Given the description of an element on the screen output the (x, y) to click on. 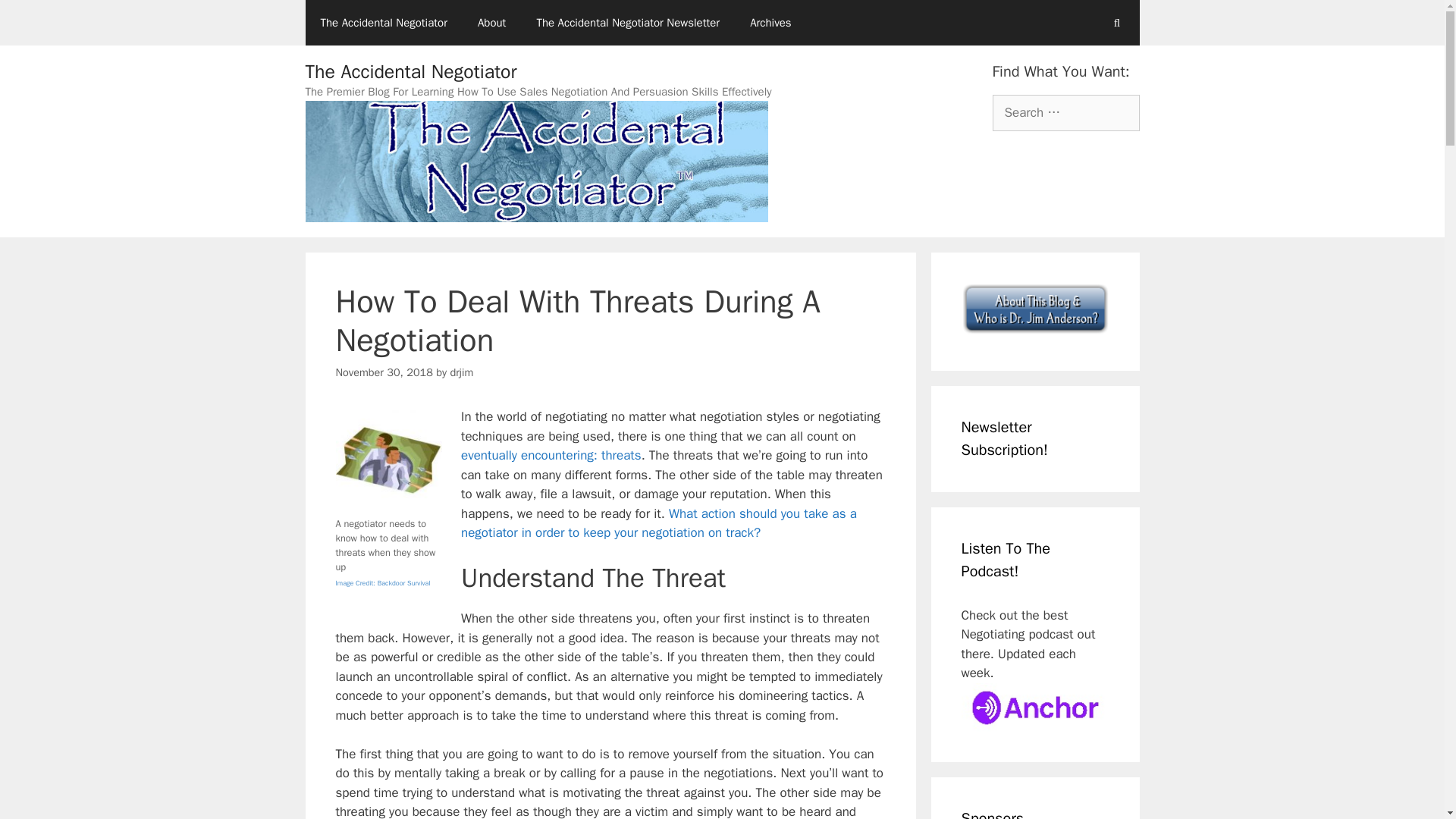
Search (35, 18)
View all posts by drjim (461, 372)
The Accidental Negotiator (410, 71)
Image Credit: Backdoor Survival (381, 582)
What is a threat? (551, 455)
drjim (461, 372)
The Accidental Negotiator Newsletter (628, 22)
Search for: (1064, 113)
About (492, 22)
The Accidental Negotiator (382, 22)
eventually encountering: threats (551, 455)
Archives (770, 22)
